Given the description of an element on the screen output the (x, y) to click on. 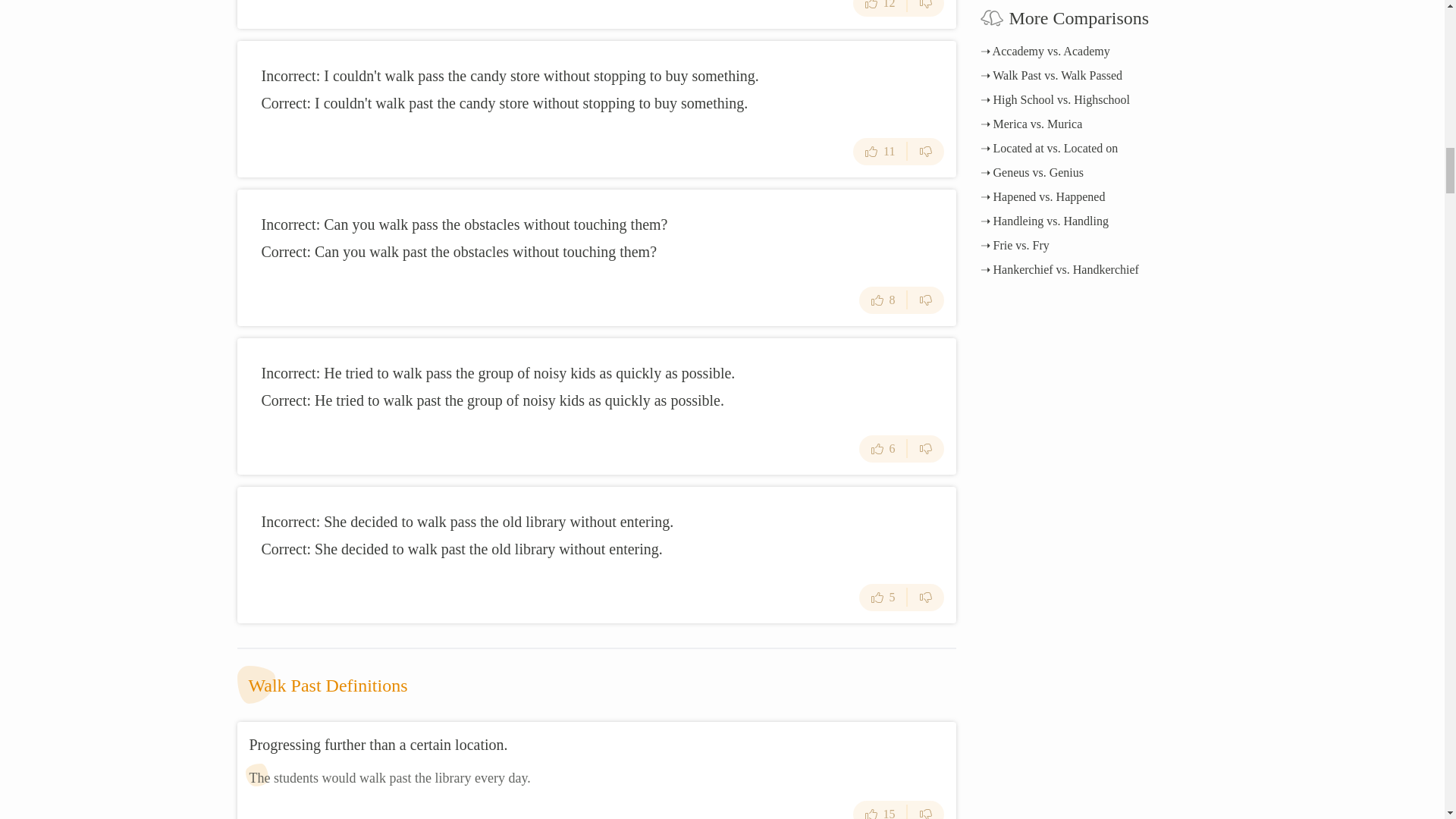
6 (883, 448)
8 (883, 299)
5 (883, 596)
12 (879, 8)
11 (880, 151)
15 (879, 809)
